Given the description of an element on the screen output the (x, y) to click on. 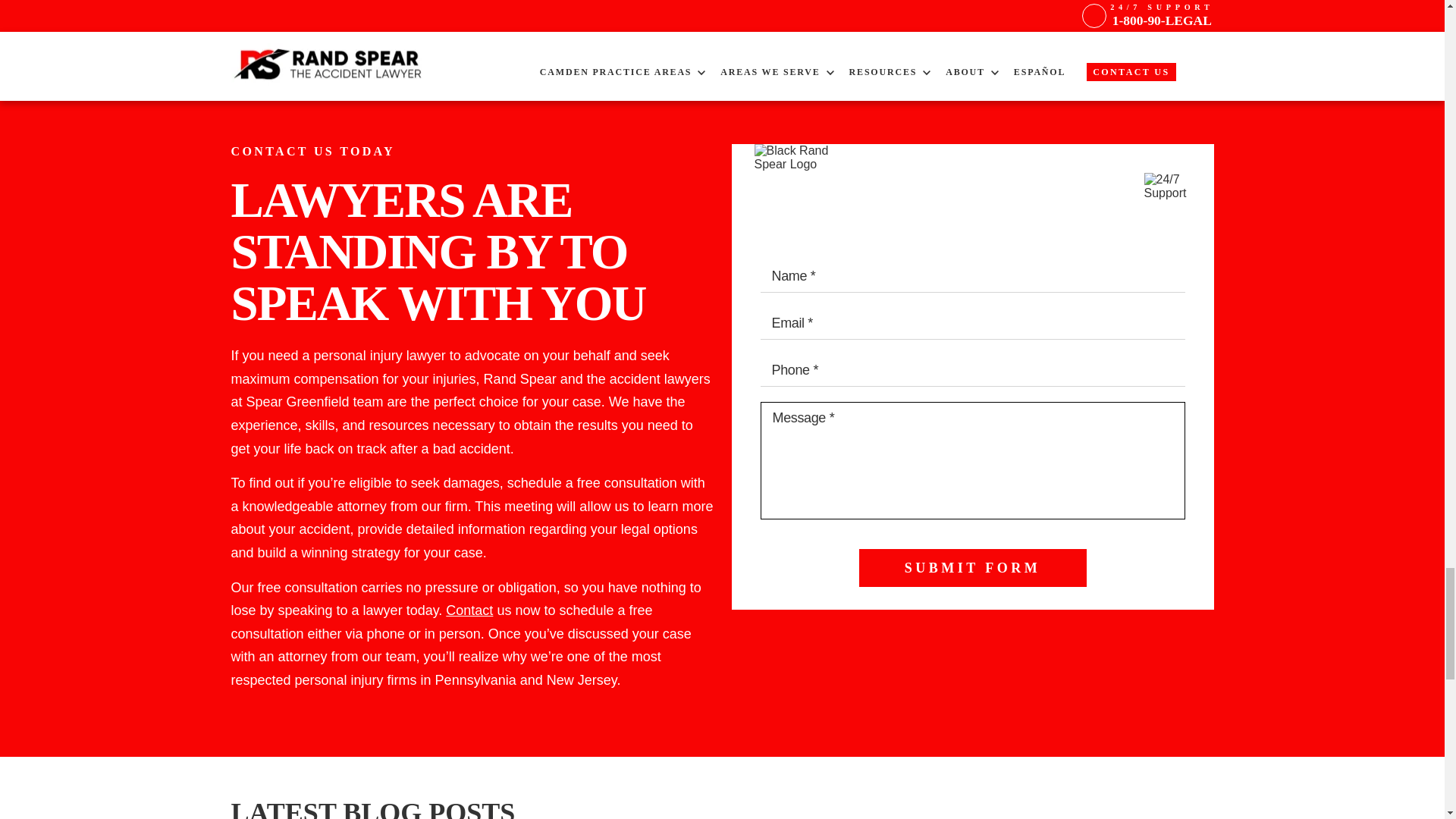
Black Rand Spear Logo (806, 196)
Submit Form (972, 567)
